Given the description of an element on the screen output the (x, y) to click on. 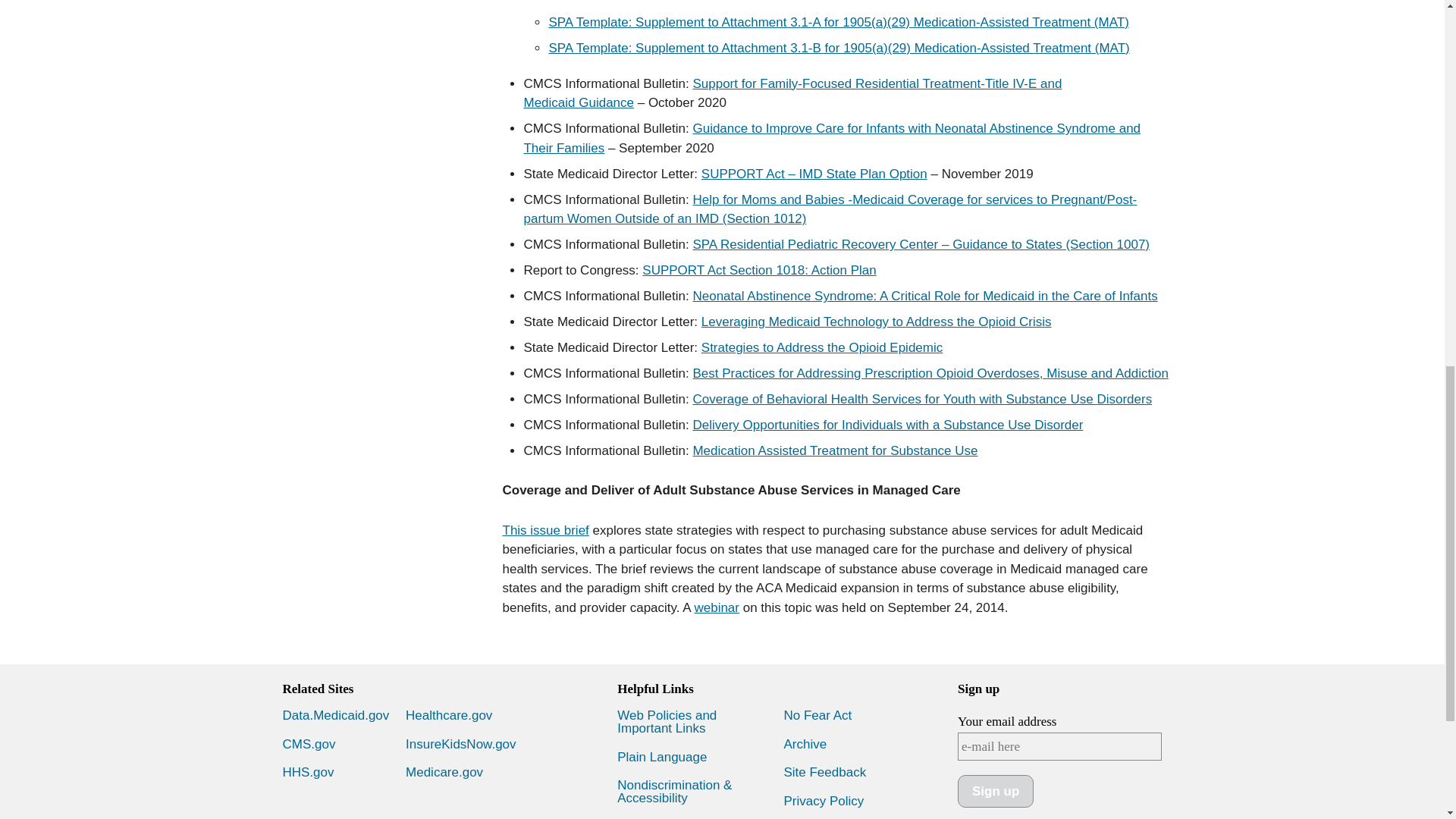
cms-adult-substance-abuse-services-coverage.pdf (545, 530)
rtc072319-1018 (759, 269)
1905-spa-supplement-attchmnt-31A-mat (838, 22)
cib090420.pdf (831, 138)
1905-spa-supplement-attchmnt-31B-mat (838, 47)
sud-services-webinar.pdf (716, 607)
cib100520.pdf (791, 93)
